Given the description of an element on the screen output the (x, y) to click on. 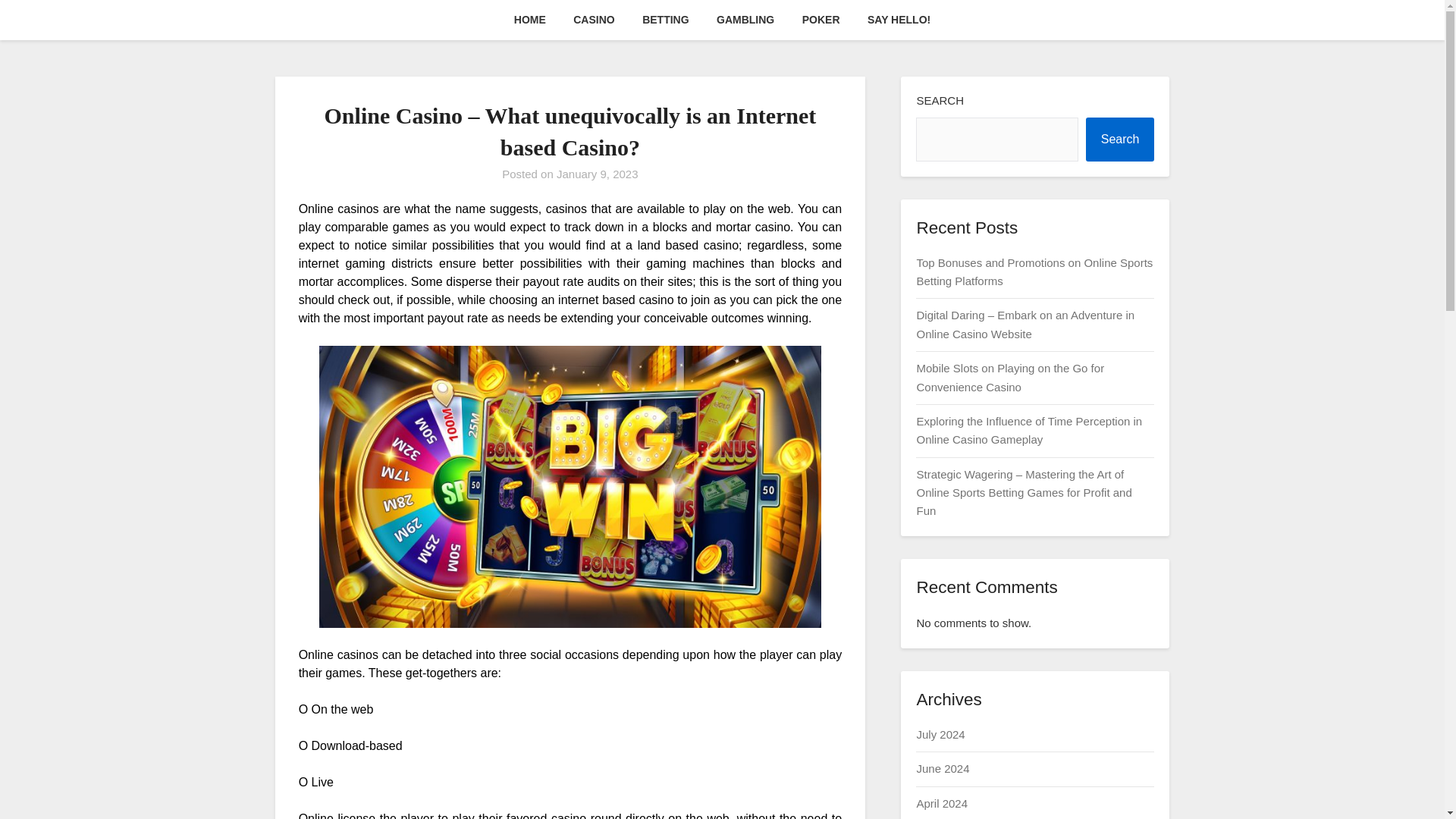
CASINO (593, 20)
HOME (529, 20)
June 2024 (942, 768)
SAY HELLO! (899, 20)
April 2024 (941, 802)
Mobile Slots on Playing on the Go for Convenience Casino (1009, 377)
January 9, 2023 (597, 173)
BETTING (665, 20)
Search (1120, 139)
GAMBLING (745, 20)
POKER (820, 20)
July 2024 (939, 734)
